Given the description of an element on the screen output the (x, y) to click on. 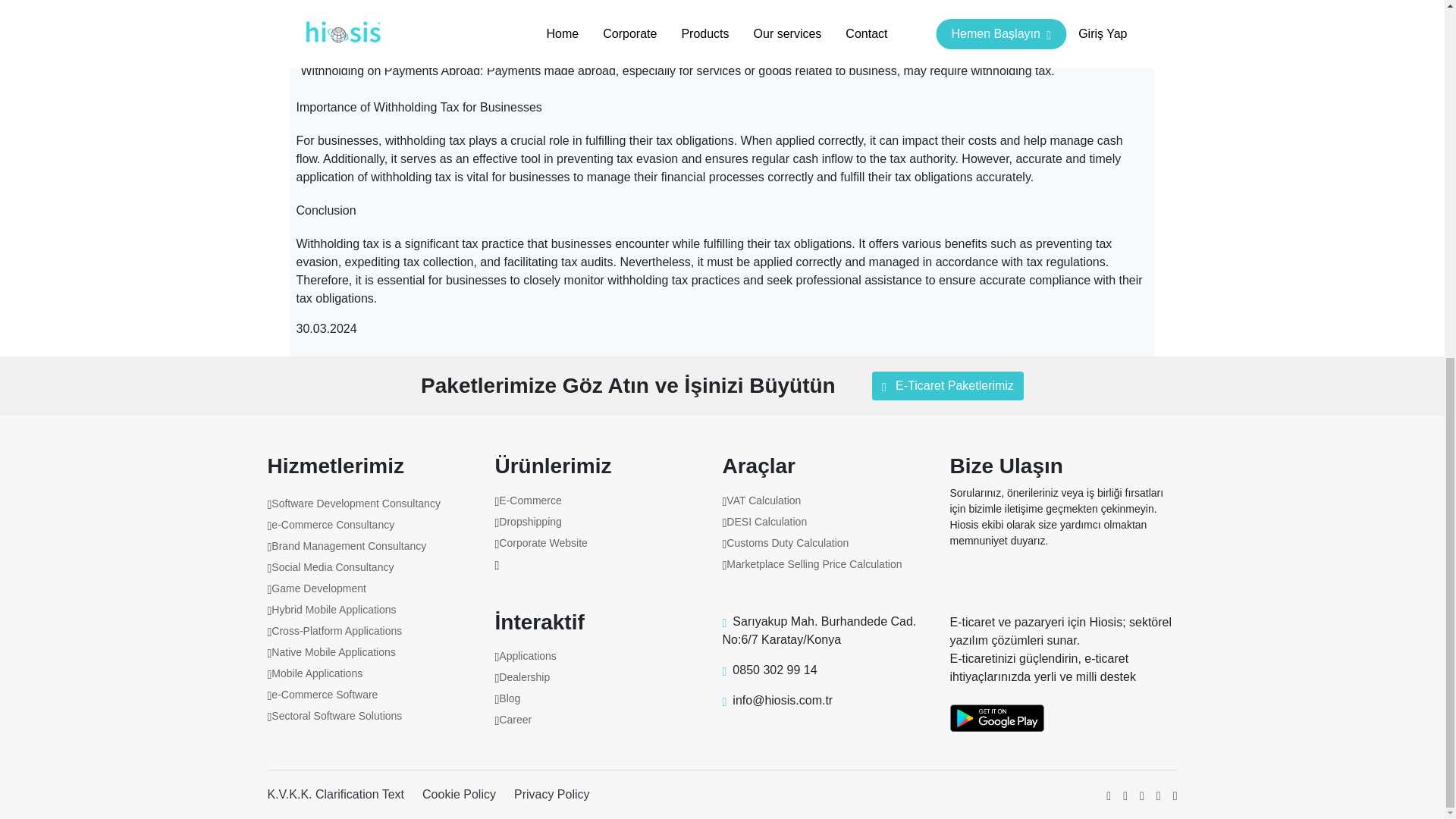
Promotional Films (313, 800)
Marketplace Software (322, 736)
Hybrid Mobile Applications (333, 609)
Native Mobile Applications (332, 652)
e-Commerce Software (323, 694)
Software Development Consultancy (355, 503)
E-Ticaret Paketlerimiz (947, 385)
Mobile Applications (316, 673)
e-Commerce Consultancy (332, 524)
Sectoral Software Solutions (335, 715)
